Given the description of an element on the screen output the (x, y) to click on. 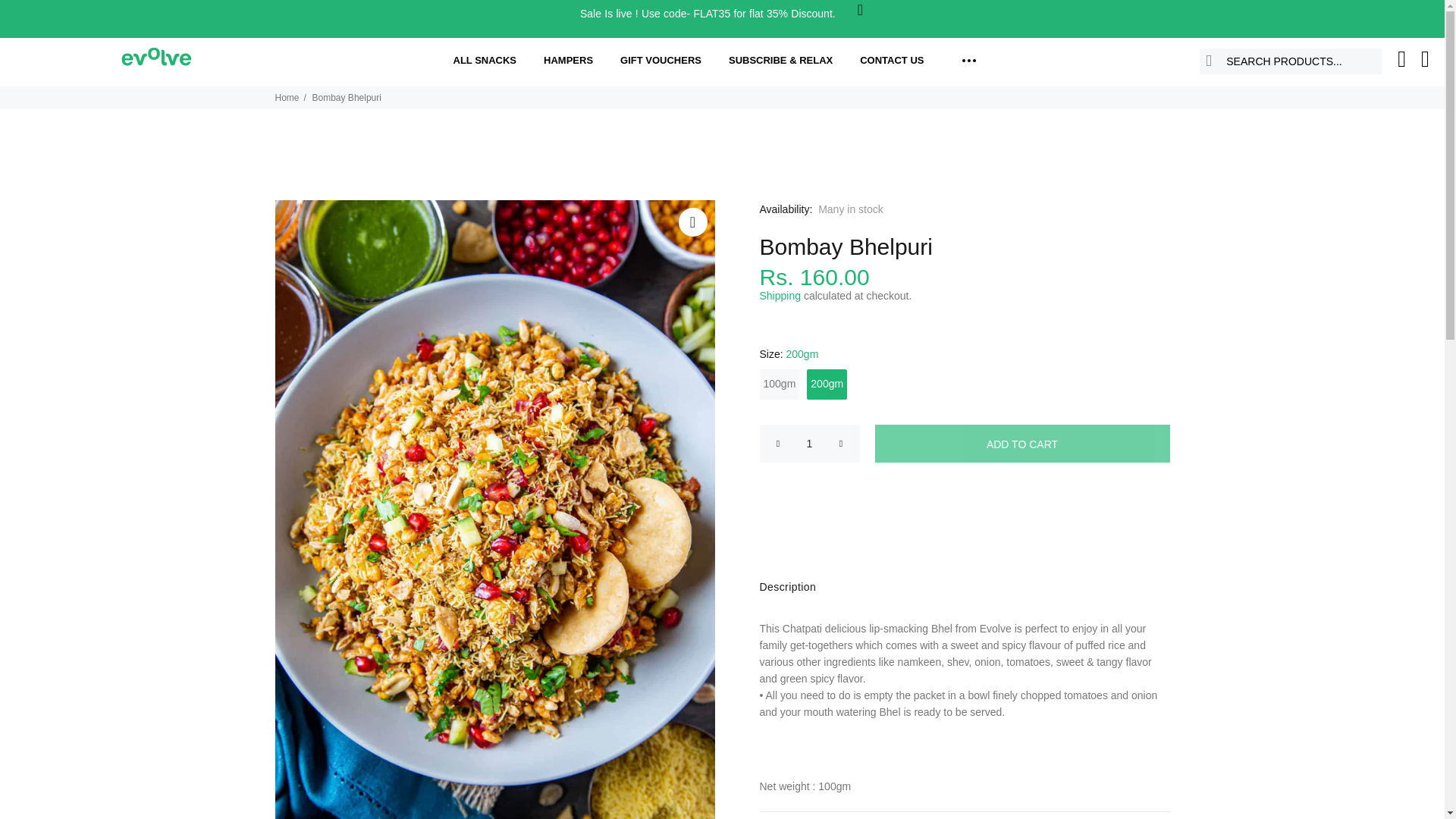
GIFT VOUCHERS (660, 60)
1 (810, 443)
HAMPERS (568, 60)
Shipping (781, 295)
CONTACT US (891, 60)
100gm (779, 384)
ALL SNACKS (487, 60)
Home (286, 97)
